Given the description of an element on the screen output the (x, y) to click on. 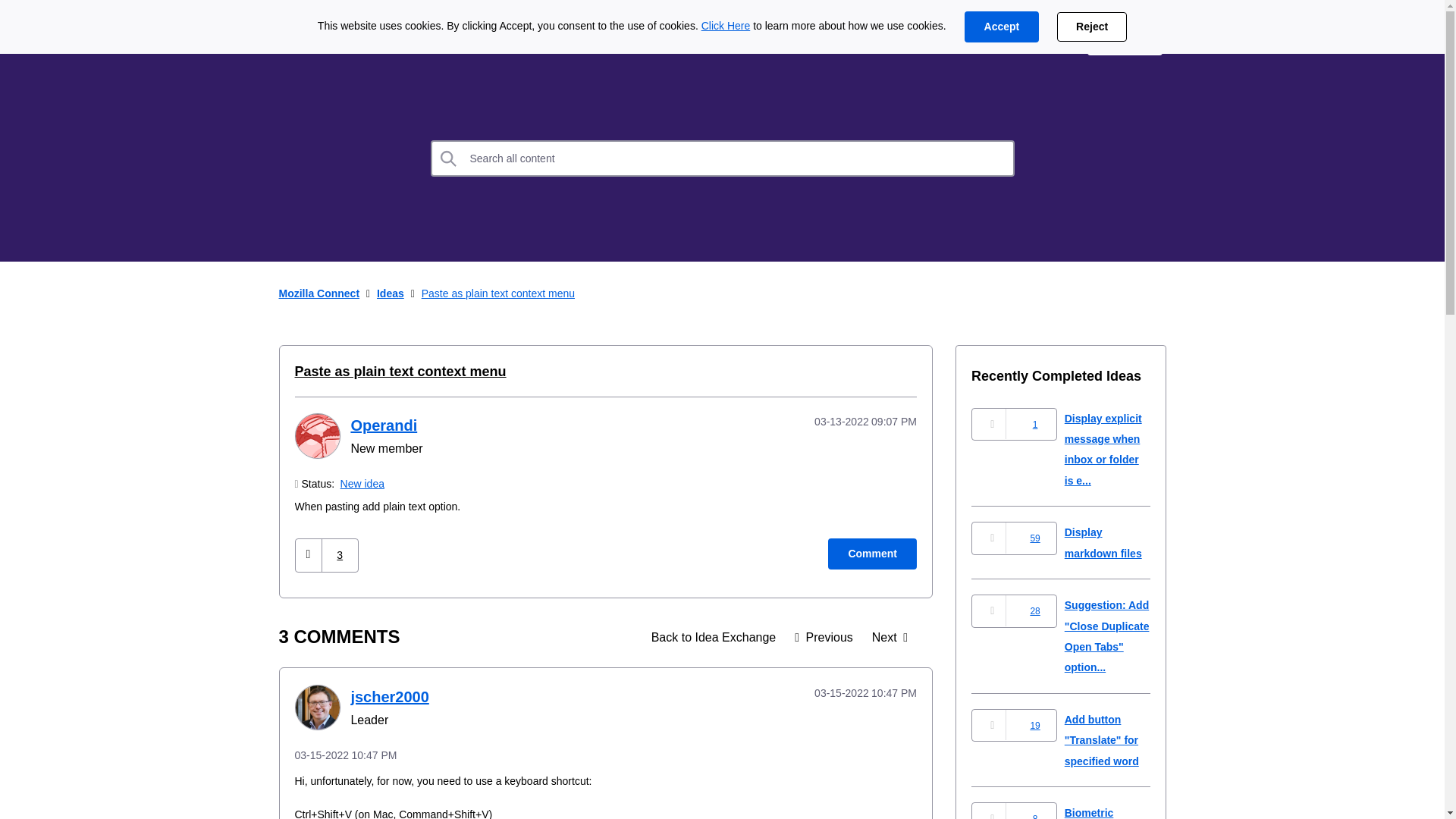
jscher2000 (389, 696)
Click Here (726, 25)
Ideas (714, 637)
Search (448, 158)
Previous (823, 637)
Next (889, 637)
Mozilla Connect (324, 39)
Sign In (1124, 39)
Paste as plain text context menu (399, 371)
Operandi (316, 435)
New idea (362, 483)
Support (1040, 39)
Discussions (500, 39)
Click here to see who gave kudos to this post. (339, 555)
